Given the description of an element on the screen output the (x, y) to click on. 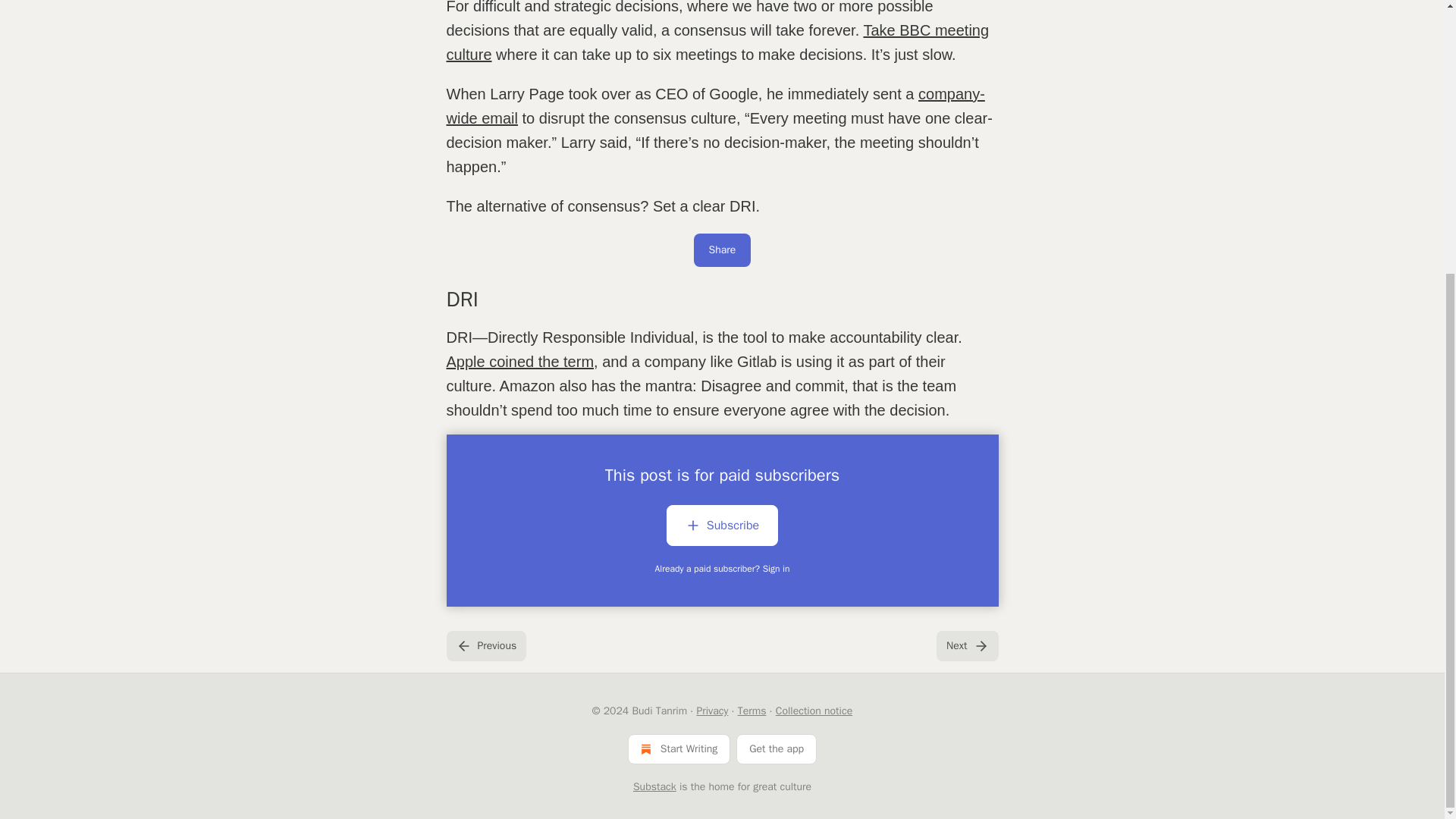
Previous (485, 645)
Substack (655, 786)
Start Writing (678, 748)
Share (722, 249)
Subscribe (721, 525)
company-wide email (714, 105)
Terms (752, 710)
Take BBC meeting culture (716, 42)
Subscribe (721, 527)
Privacy (711, 710)
Apple coined the term (519, 361)
Already a paid subscriber? Sign in (722, 568)
Get the app (776, 748)
Collection notice (813, 710)
Next (966, 645)
